Given the description of an element on the screen output the (x, y) to click on. 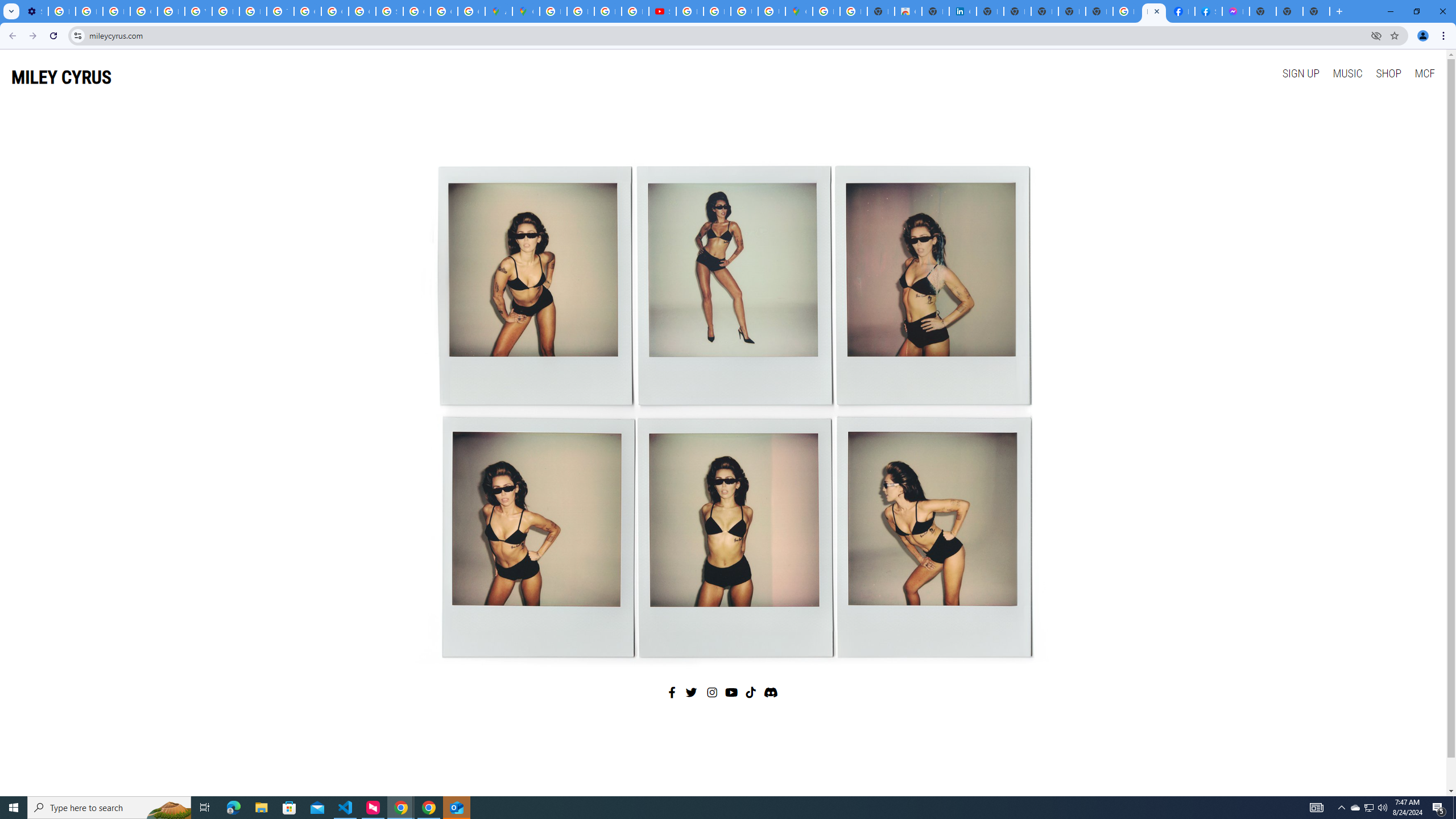
Subscriptions - YouTube (662, 11)
Facebook (671, 692)
Miley Cyrus (722, 407)
Cookie Policy | LinkedIn (962, 11)
YouTube (197, 11)
Sign Up for Facebook (1208, 11)
Privacy Help Center - Policies Help (253, 11)
SHOP (1387, 73)
